Given the description of an element on the screen output the (x, y) to click on. 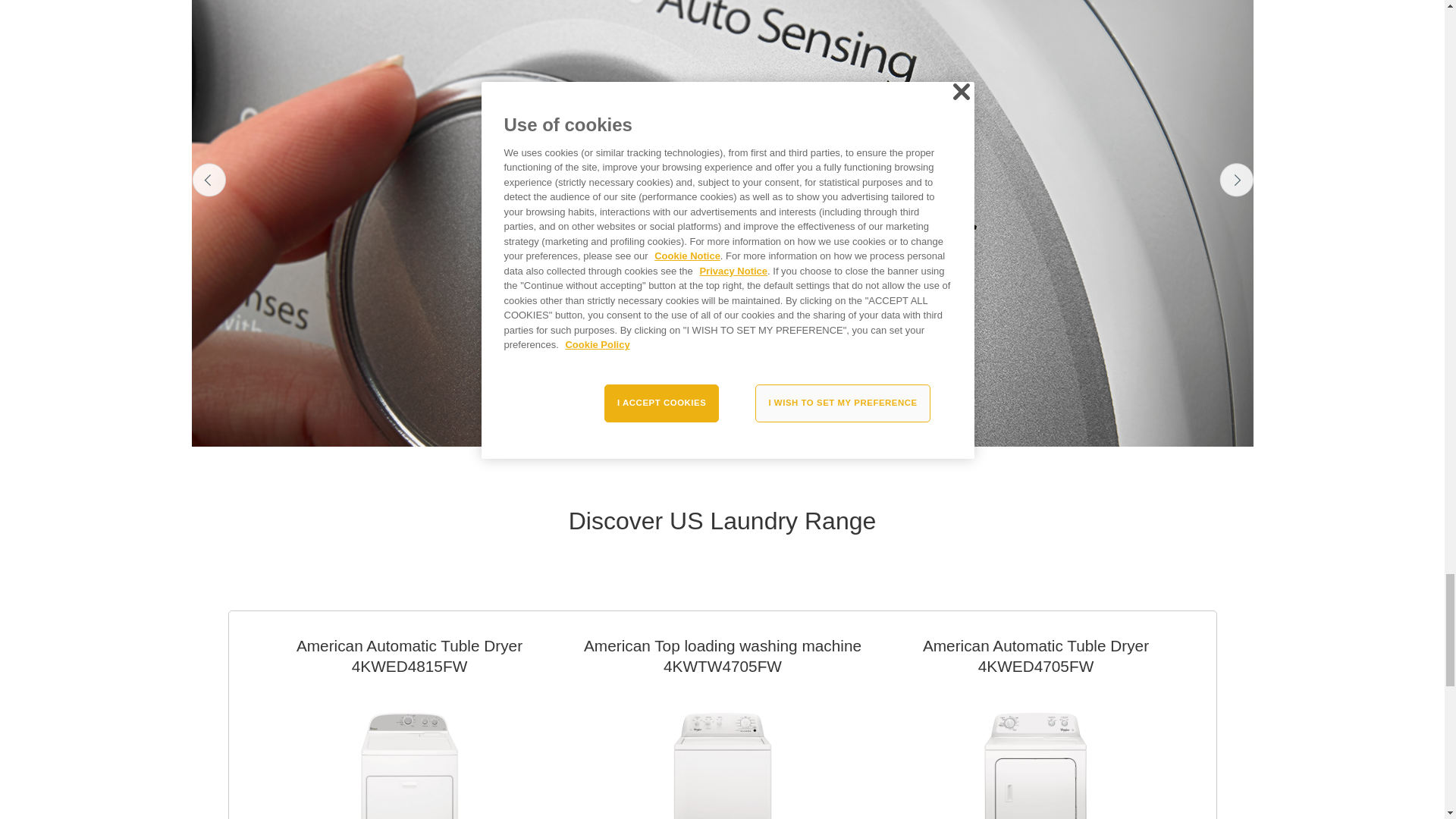
Next (1236, 179)
2 (716, 427)
3 (727, 427)
4 (739, 427)
Previous (207, 179)
1 (703, 427)
